Given the description of an element on the screen output the (x, y) to click on. 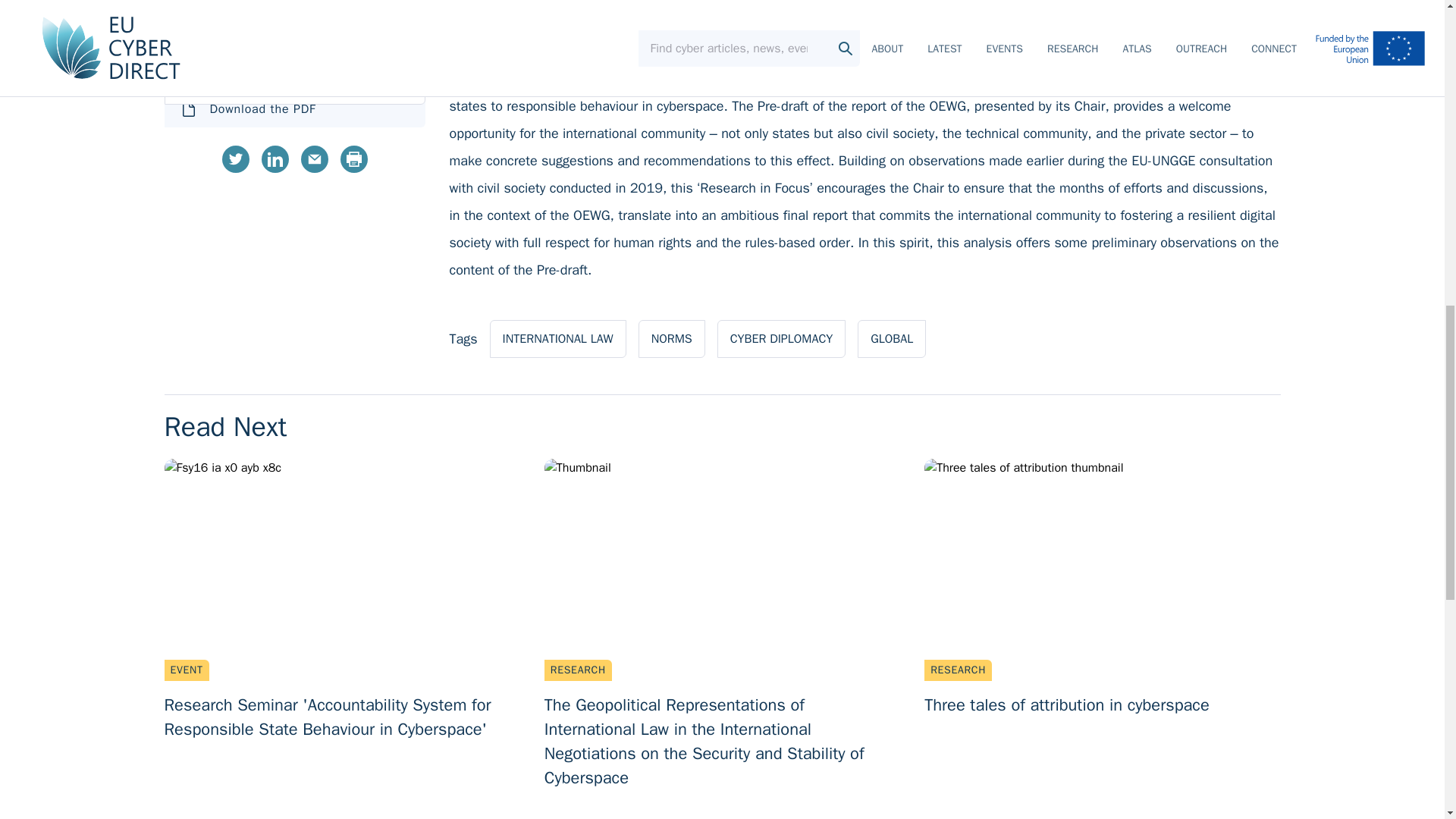
NORMS (295, 44)
INTERNATIONAL LAW (671, 338)
Download the PDF (557, 338)
CYBER DIPLOMACY (294, 108)
GLOBAL (781, 338)
